Given the description of an element on the screen output the (x, y) to click on. 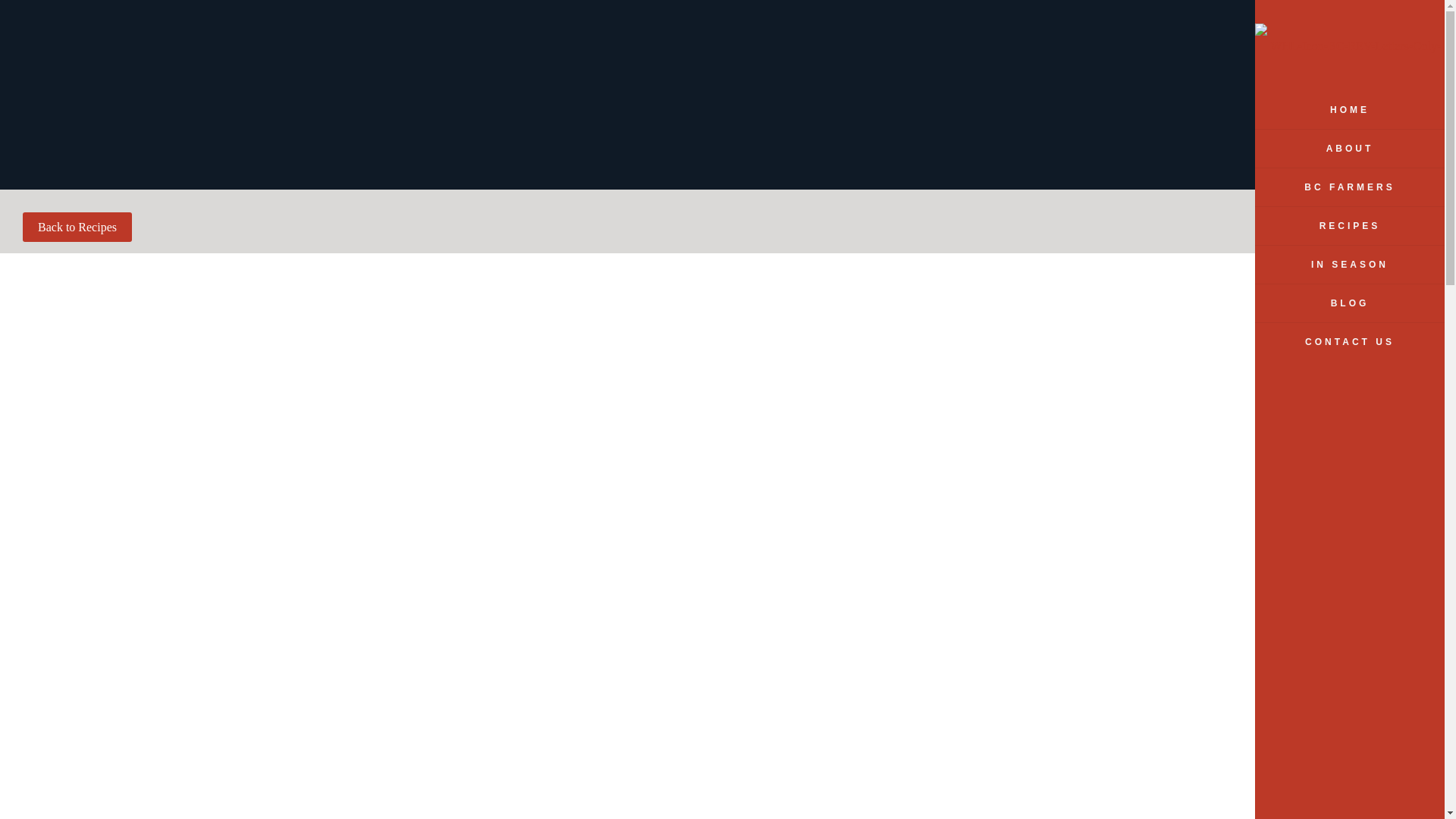
pin it (1285, 235)
tweet (1285, 265)
Back to Recipes (77, 226)
share (1285, 205)
email (1286, 295)
